Given the description of an element on the screen output the (x, y) to click on. 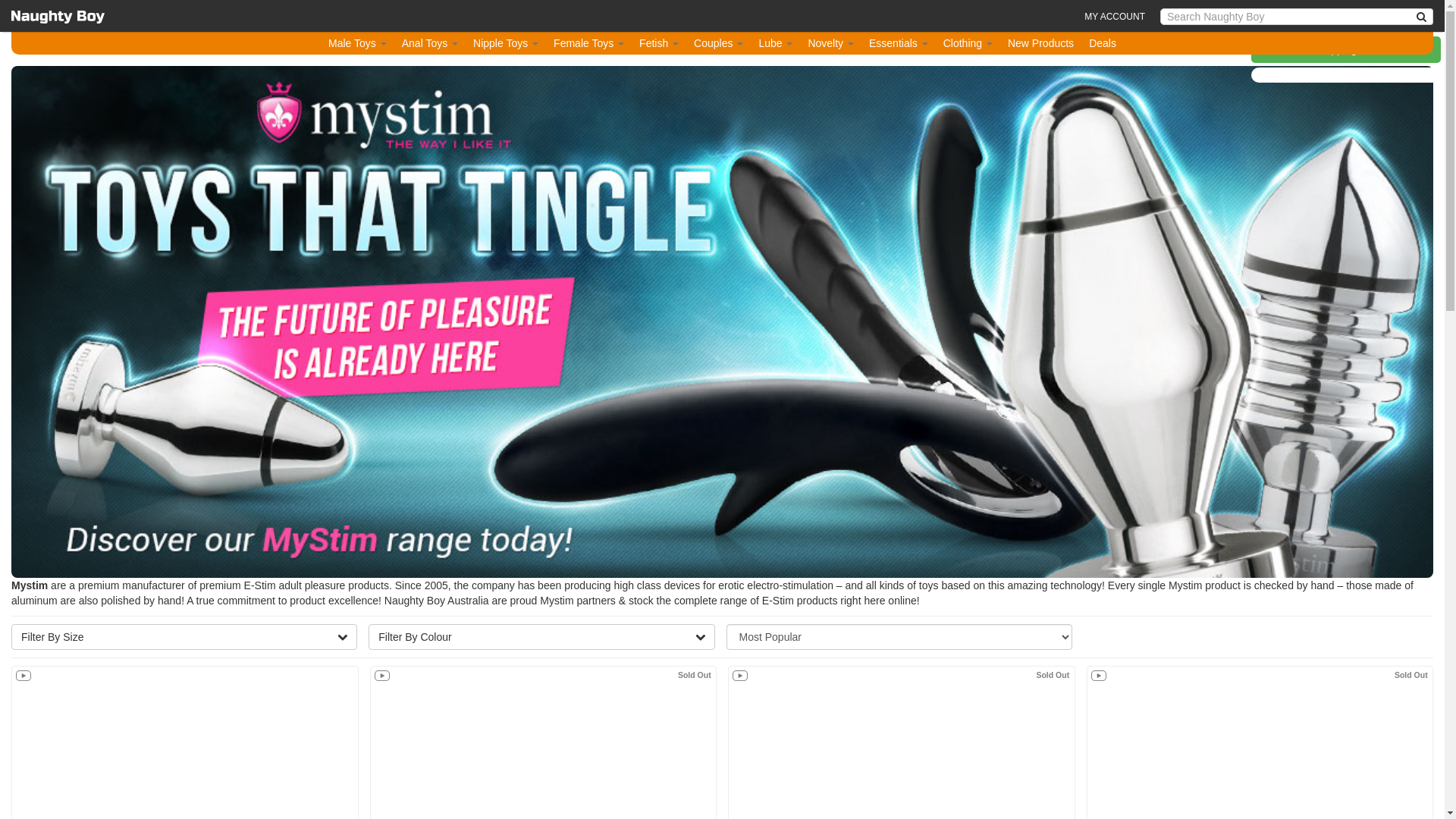
Couples Element type: text (718, 42)
Novelty Element type: text (830, 42)
Clothing Element type: text (967, 42)
New Products Element type: text (1040, 42)
Search Element type: text (1421, 16)
MY ACCOUNT Element type: text (1114, 16)
Female Toys Element type: text (588, 42)
Essentials Element type: text (898, 42)
Fetish Element type: text (658, 42)
Male Toys Element type: text (357, 42)
Lube Element type: text (775, 42)
Anal Toys Element type: text (429, 42)
Deals Element type: text (1102, 42)
Nipple Toys Element type: text (505, 42)
